Given the description of an element on the screen output the (x, y) to click on. 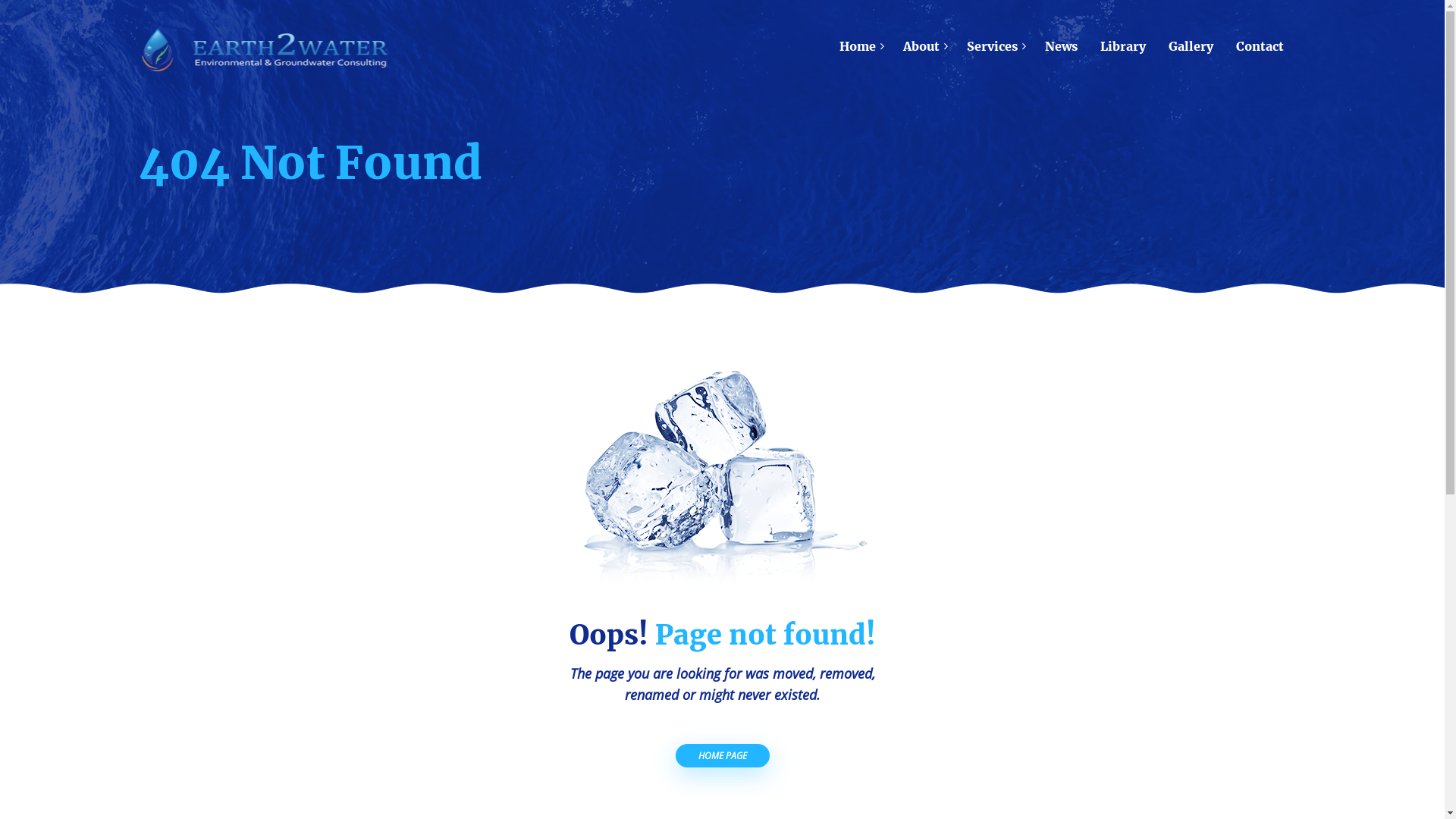
Library Element type: text (1122, 38)
Contact Element type: text (1258, 38)
Services Element type: text (992, 38)
Home Element type: text (857, 38)
HOME PAGE Element type: text (721, 755)
Gallery Element type: text (1190, 38)
News Element type: text (1060, 38)
About Element type: text (920, 38)
